Given the description of an element on the screen output the (x, y) to click on. 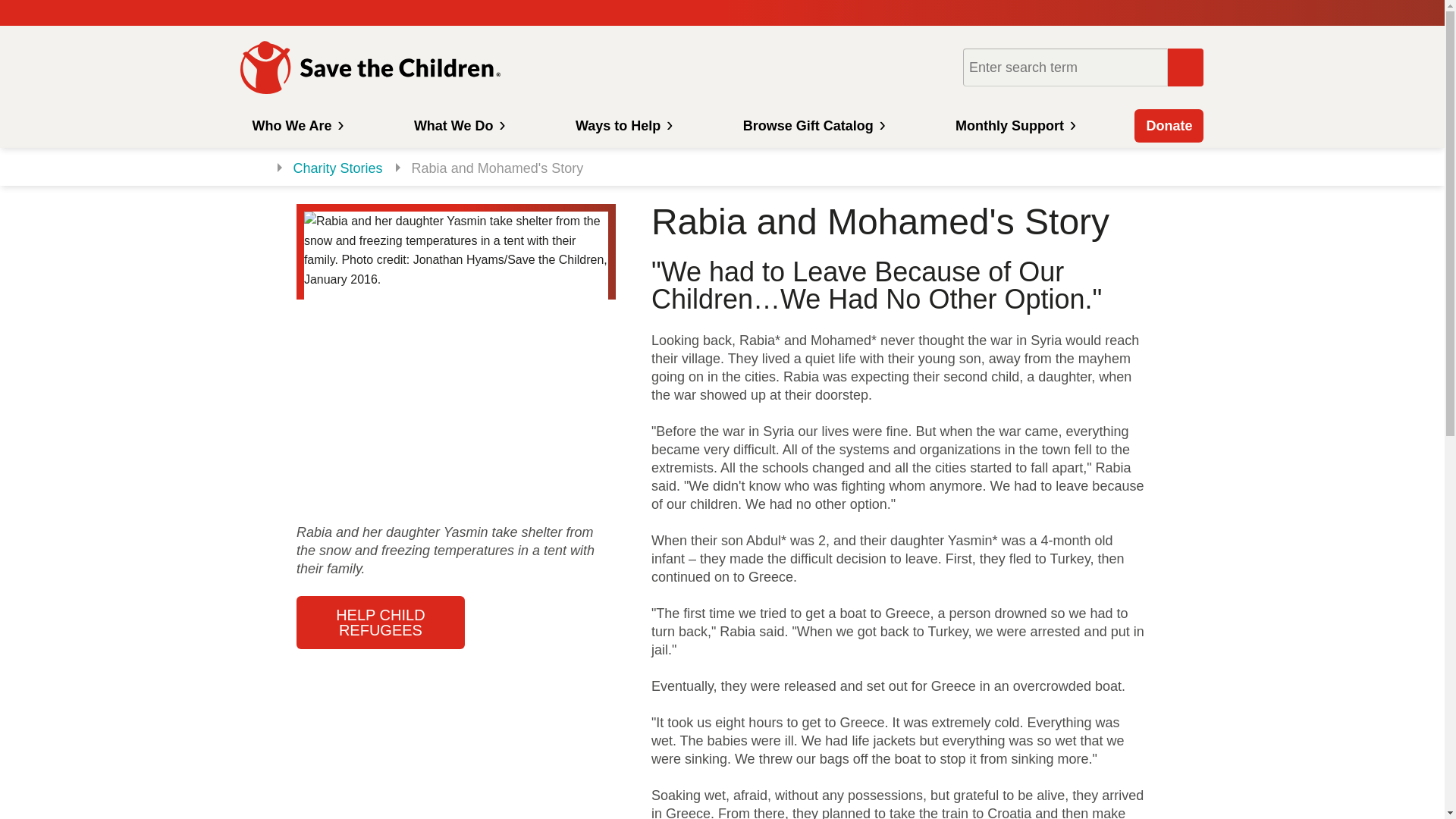
Enter the terms you wish to search for. (1064, 67)
Ways to Help (621, 125)
What We Do (458, 125)
Browse Gift Catalog (812, 125)
Help Child Refugees (380, 622)
Monthly Support (1013, 125)
Who We Are (295, 125)
Search (1185, 67)
Search (1185, 67)
